Given the description of an element on the screen output the (x, y) to click on. 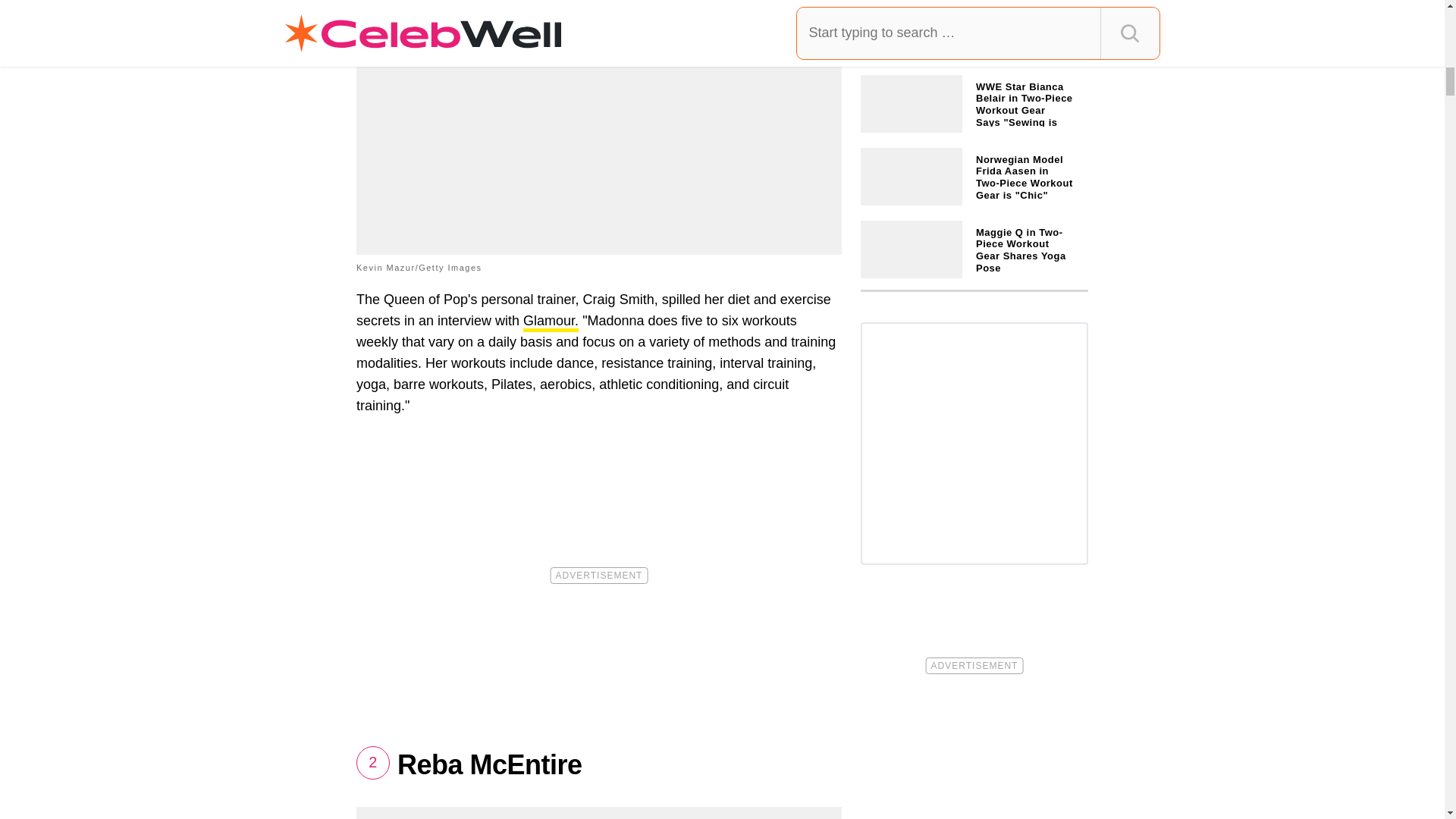
Glamour. (550, 322)
